Given the description of an element on the screen output the (x, y) to click on. 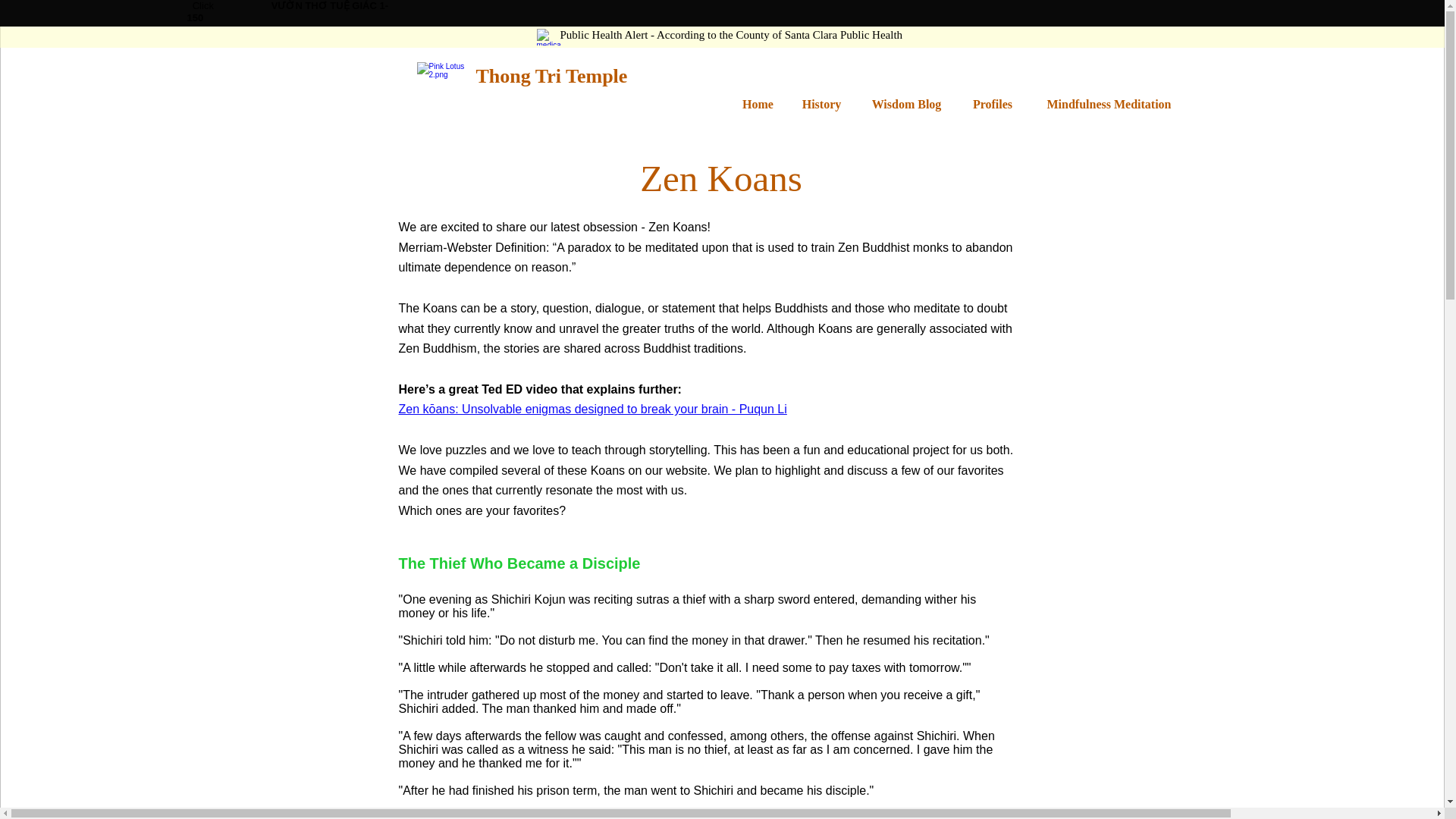
Profiles (991, 104)
Wisdom Blog (906, 104)
Zen Koans (721, 185)
Mindfulness Meditation (1109, 104)
Thong Tri Temple (551, 75)
Home (757, 104)
History (821, 104)
